Given the description of an element on the screen output the (x, y) to click on. 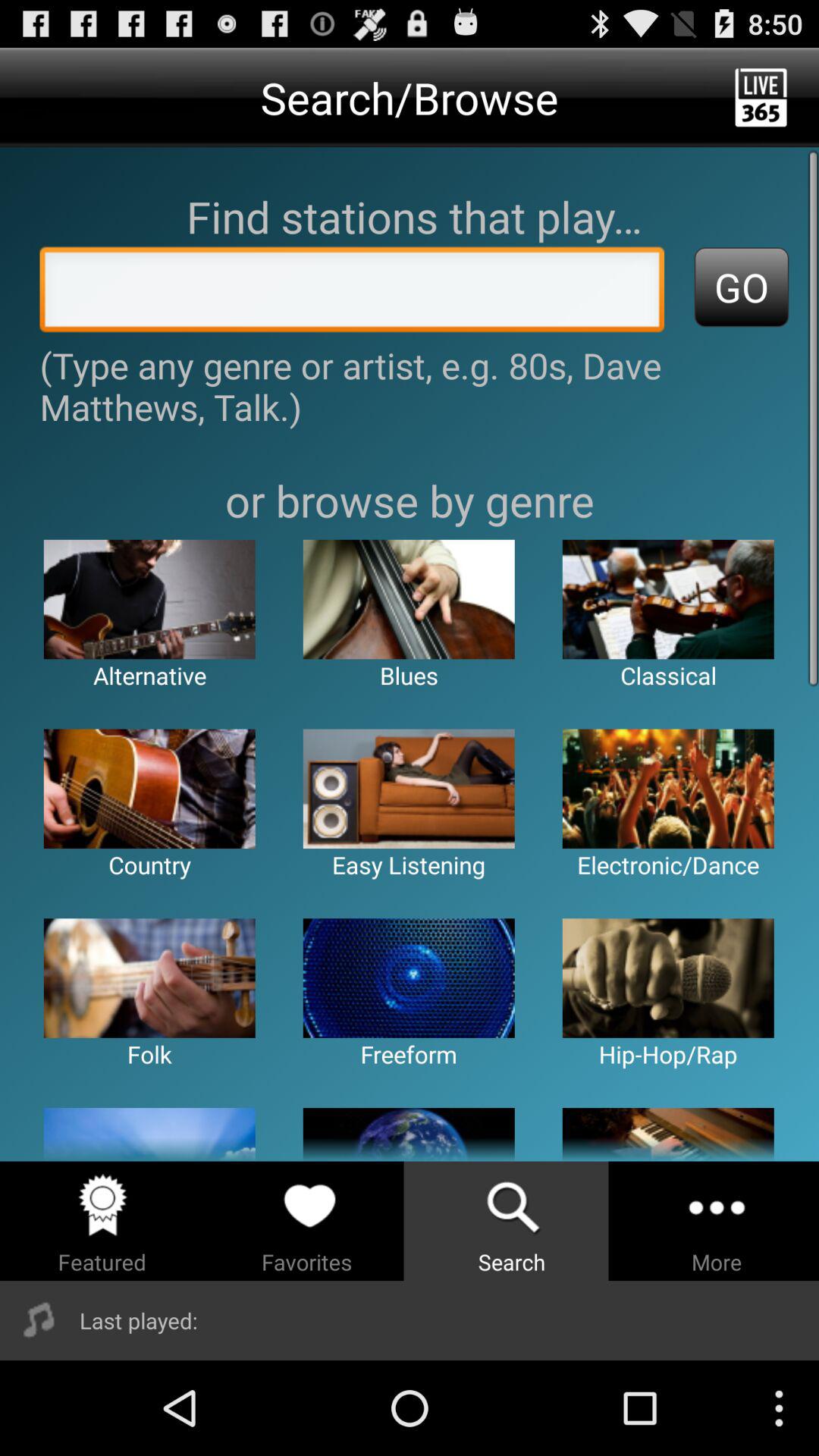
search stations (351, 293)
